Given the description of an element on the screen output the (x, y) to click on. 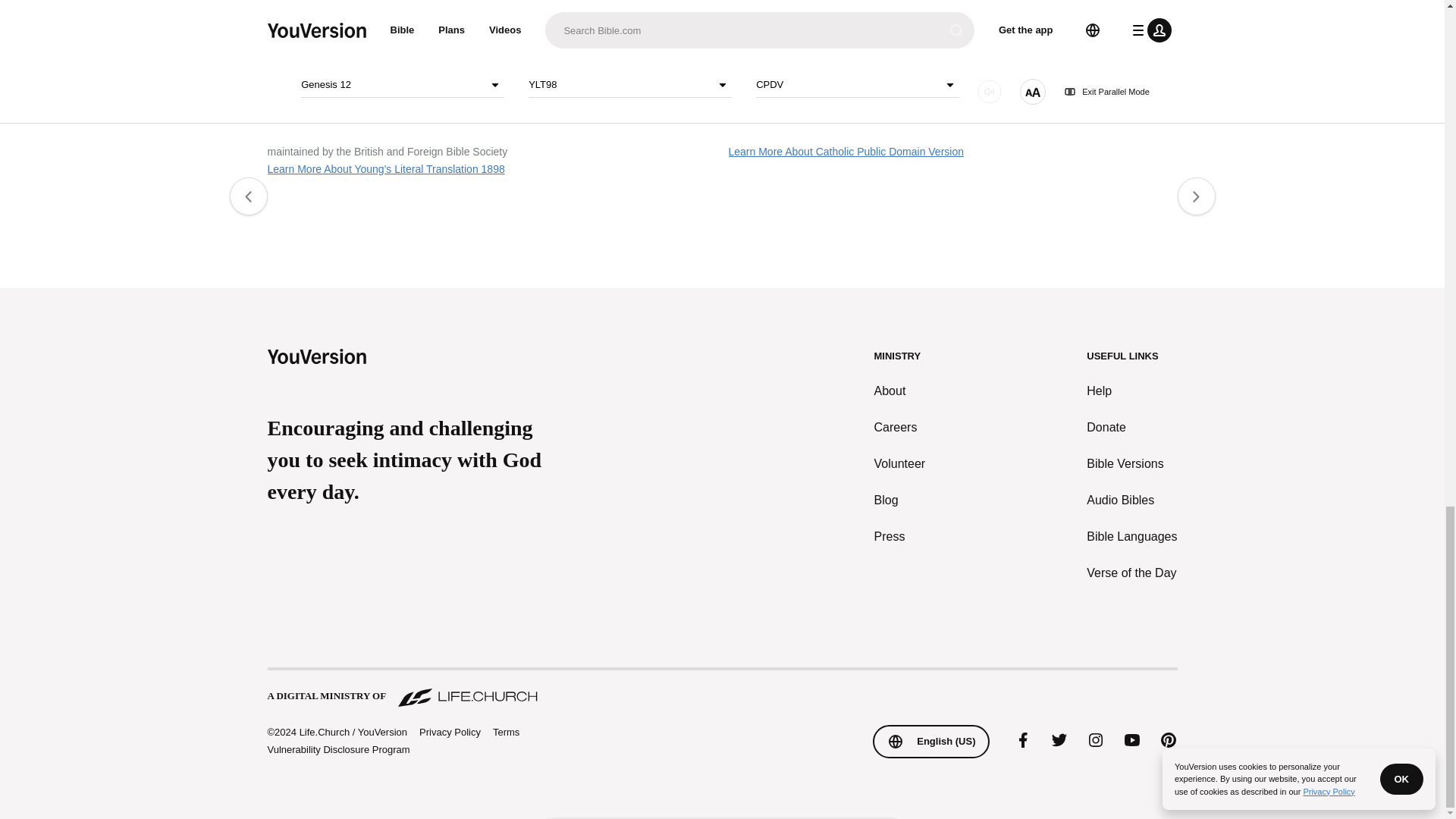
Learn More About Young's Literal Translation 1898 (384, 168)
About (900, 391)
Bible Languages (1131, 536)
A DIGITAL MINISTRY OF (721, 688)
Press (900, 536)
Donate (1131, 427)
Vulnerability Disclosure Program (337, 749)
Volunteer (900, 464)
Help (1131, 391)
Verse of the Day (1131, 573)
Bible Versions (1131, 464)
Audio Bibles (1131, 500)
Privacy Policy (449, 732)
Blog (900, 500)
Terms (506, 731)
